Given the description of an element on the screen output the (x, y) to click on. 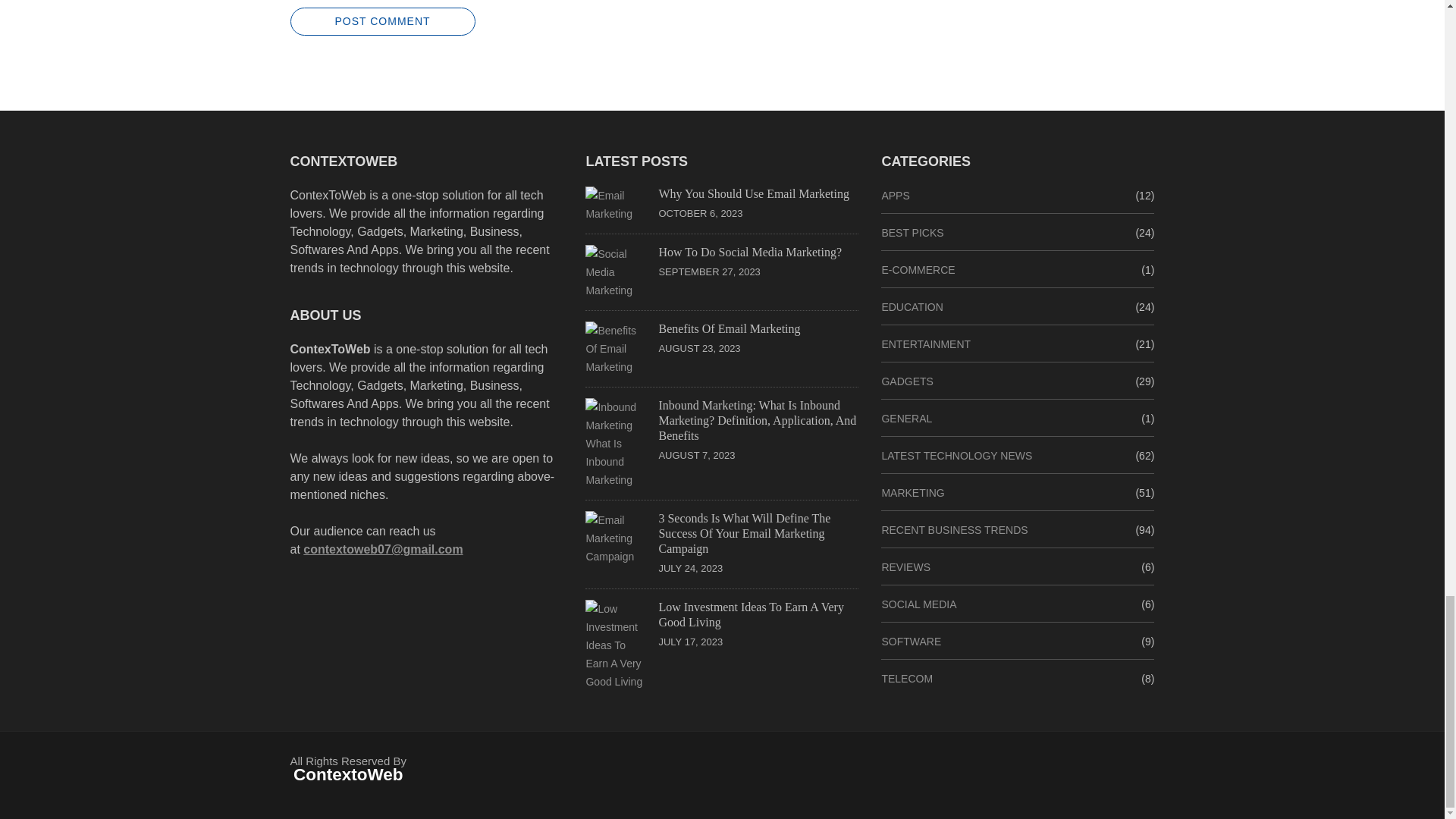
How To Do Social Media Marketing? (749, 251)
Post Comment (381, 21)
Post Comment (381, 21)
OCTOBER 6, 2023 (700, 213)
Why You Should Use Email Marketing (753, 193)
Benefits Of Email Marketing (728, 328)
SEPTEMBER 27, 2023 (709, 271)
